Given the description of an element on the screen output the (x, y) to click on. 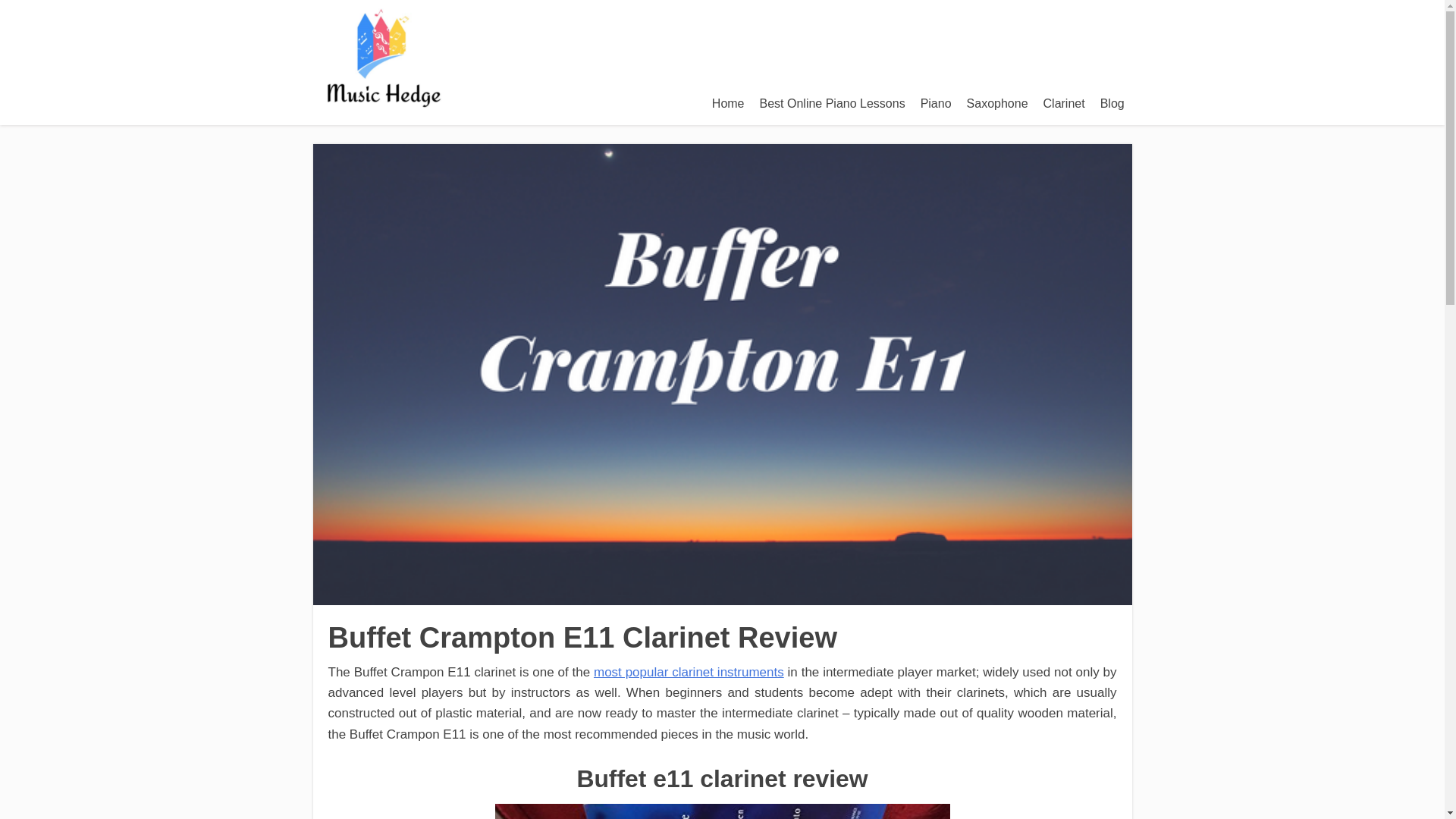
most popular clarinet instruments (689, 672)
Saxophone (997, 103)
Blog (1112, 103)
Piano (935, 103)
Home (728, 103)
Clarinet (1064, 103)
Best Online Piano Lessons (832, 103)
